Given the description of an element on the screen output the (x, y) to click on. 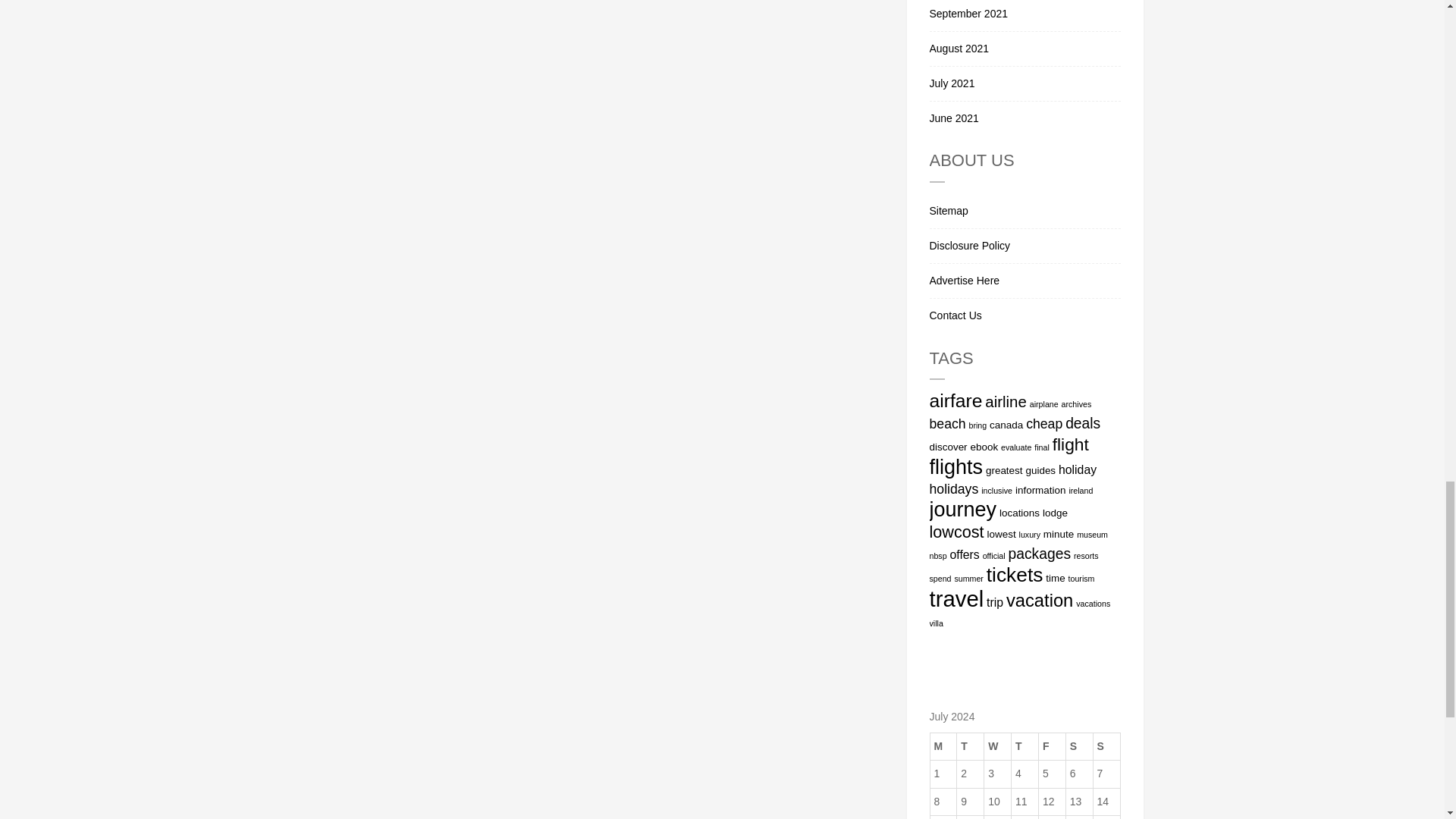
Saturday (1079, 746)
Friday (1051, 746)
Monday (943, 746)
Thursday (1025, 746)
Wednesday (997, 746)
Tuesday (970, 746)
Sunday (1106, 746)
